Given the description of an element on the screen output the (x, y) to click on. 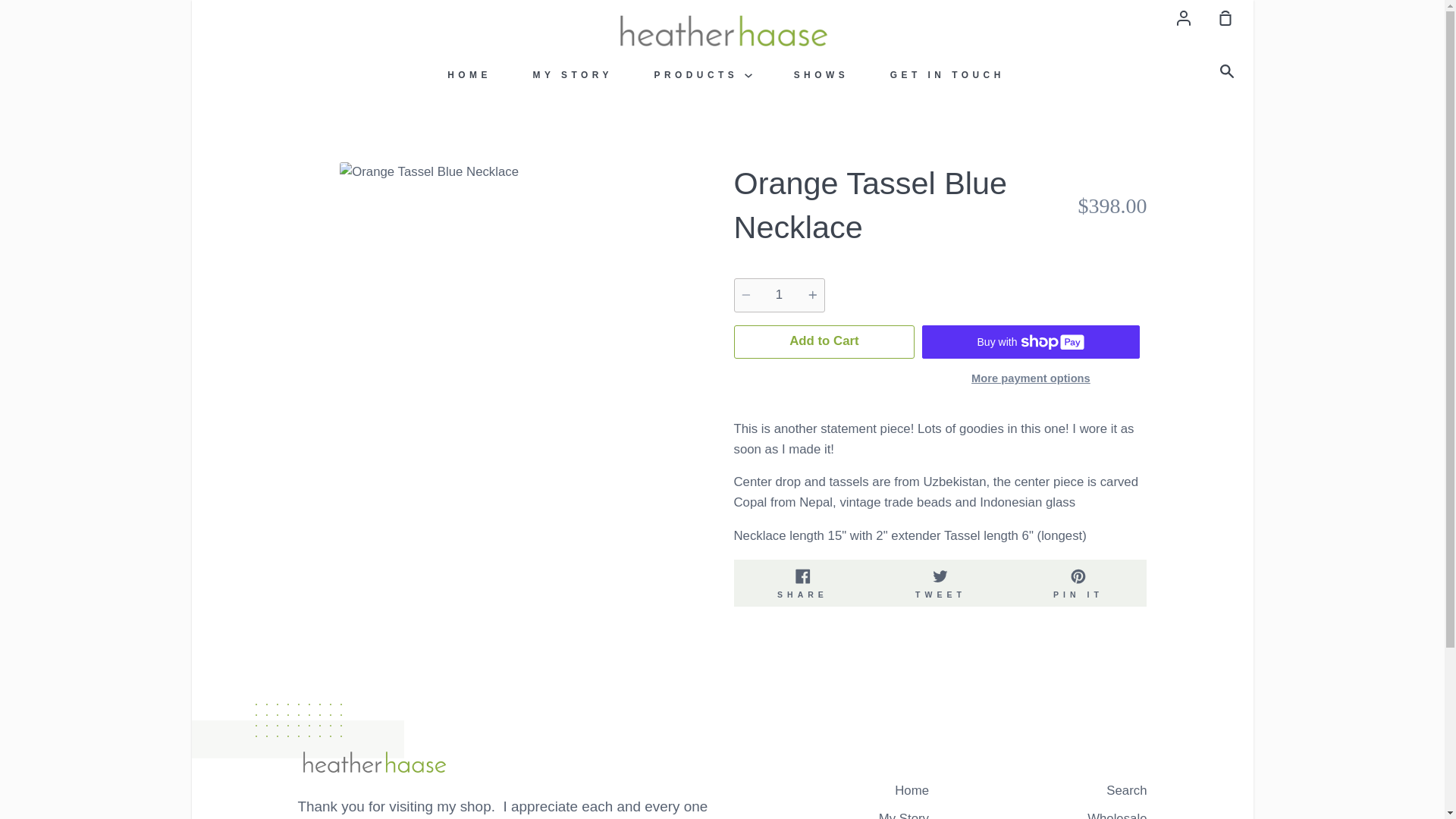
HOME (469, 74)
Home (911, 791)
My Story (903, 815)
MY STORY (941, 583)
PRODUCTS (572, 74)
Add to Cart (802, 583)
GET IN TOUCH (702, 74)
1 (824, 341)
SHOWS (947, 74)
